Given the description of an element on the screen output the (x, y) to click on. 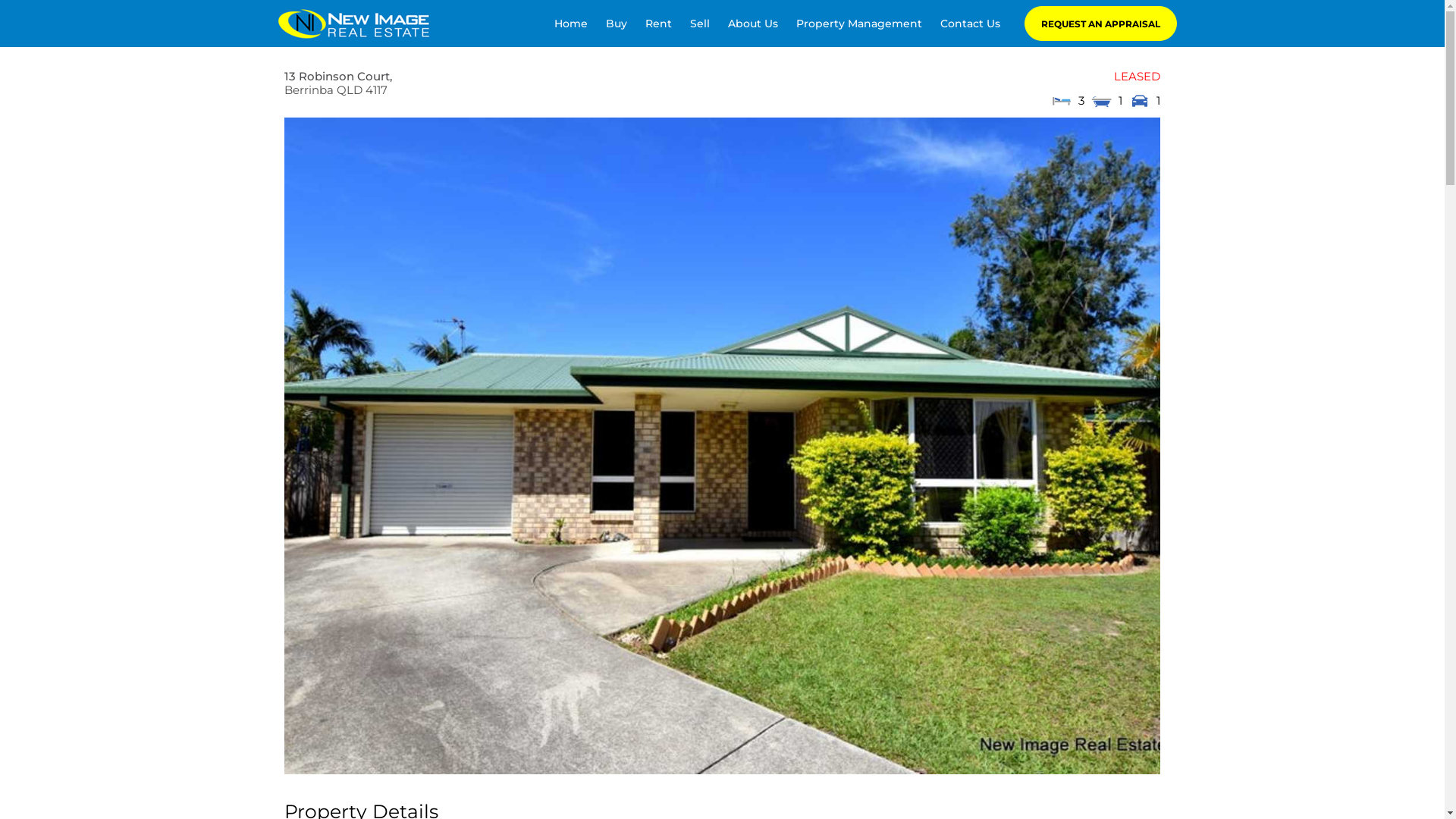
Rent Element type: text (658, 23)
Home Element type: text (570, 23)
Bedrooms Element type: hover (1060, 100)
REQUEST AN APPRAISAL Element type: text (1100, 23)
About Us Element type: text (753, 23)
Contact Us Element type: text (970, 23)
Bathrooms Element type: hover (1101, 100)
Buy Element type: text (616, 23)
Parking Spaces Element type: hover (1139, 100)
Property Management Element type: text (859, 23)
Sell Element type: text (699, 23)
